Given the description of an element on the screen output the (x, y) to click on. 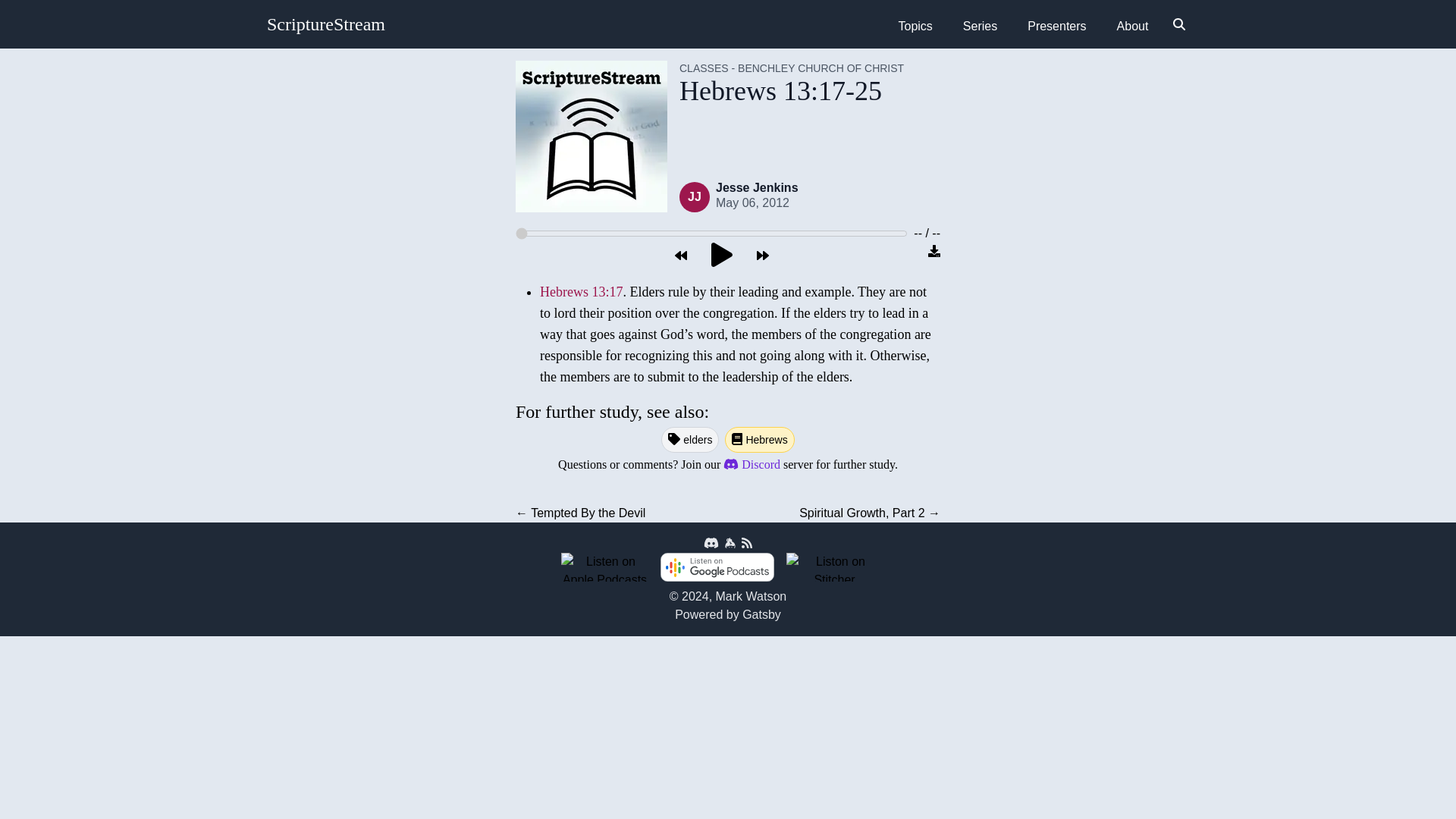
ScriptureStream (325, 24)
About (1132, 26)
Presenters (1055, 26)
Series (979, 26)
Topics (914, 26)
0 (711, 233)
